Given the description of an element on the screen output the (x, y) to click on. 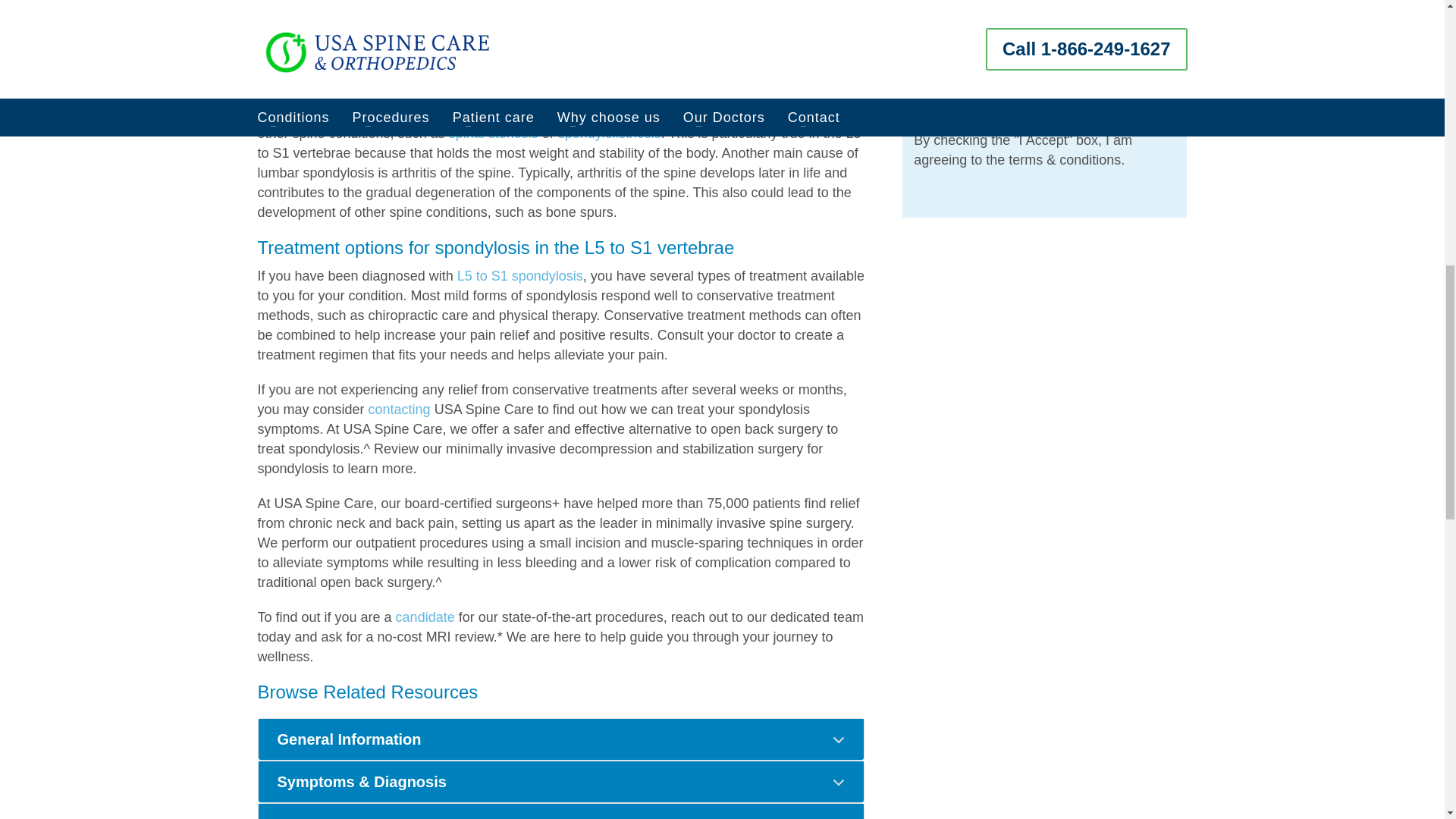
I Accept (919, 116)
No (919, 85)
Yes (919, 59)
